Given the description of an element on the screen output the (x, y) to click on. 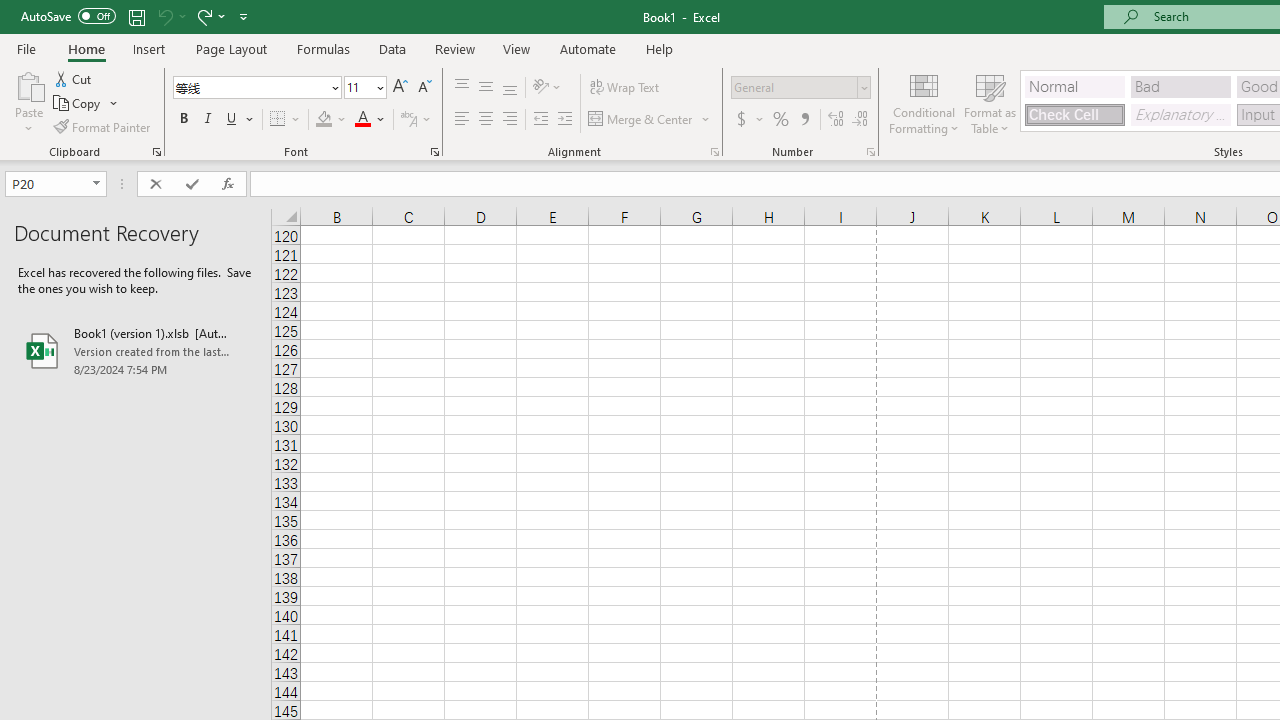
Fill Color (331, 119)
Font Size (365, 87)
Copy (78, 103)
Paste (28, 102)
Fill Color RGB(255, 255, 0) (324, 119)
Align Right (509, 119)
Bottom Align (509, 87)
Bad (1180, 86)
Bold (183, 119)
Font Color RGB(255, 0, 0) (362, 119)
Middle Align (485, 87)
